Given the description of an element on the screen output the (x, y) to click on. 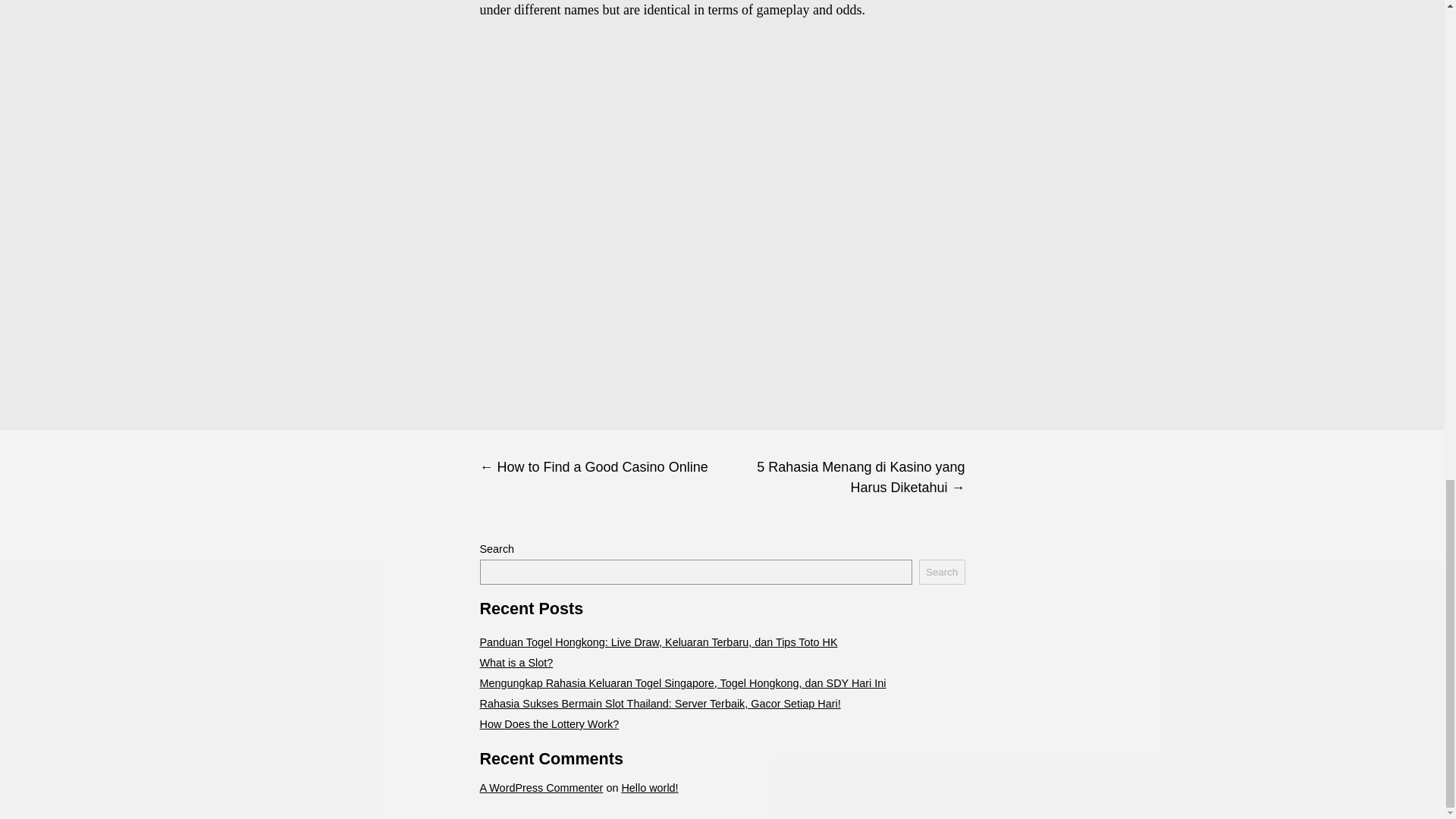
A WordPress Commenter (540, 787)
Search (941, 571)
How Does the Lottery Work? (548, 724)
Hello world! (649, 787)
What is a Slot? (516, 662)
5 Rahasia Menang di Kasino yang Harus Diketahui (842, 477)
How to Find a Good Casino Online (600, 467)
